Given the description of an element on the screen output the (x, y) to click on. 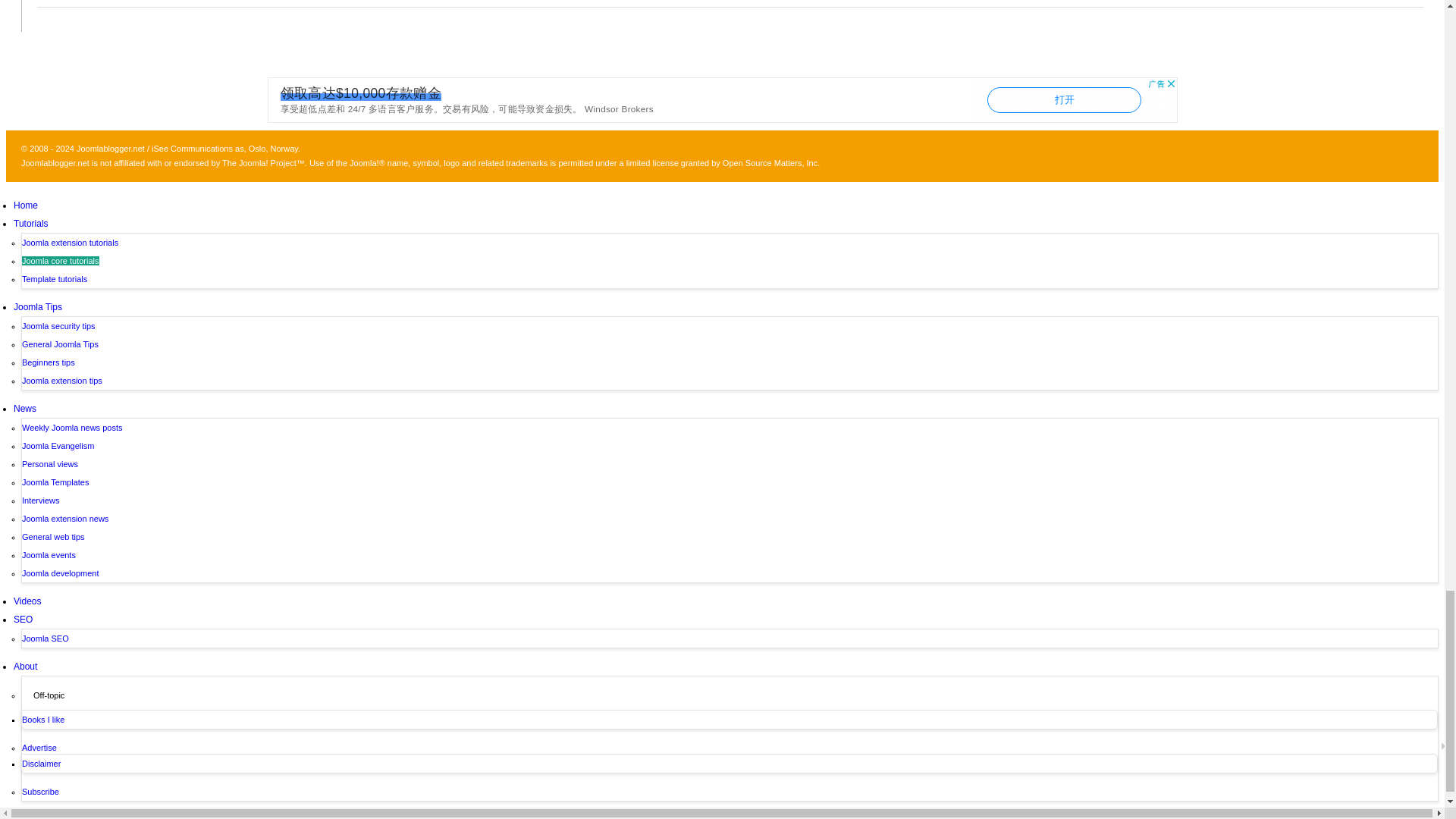
Advertisement (721, 99)
